Given the description of an element on the screen output the (x, y) to click on. 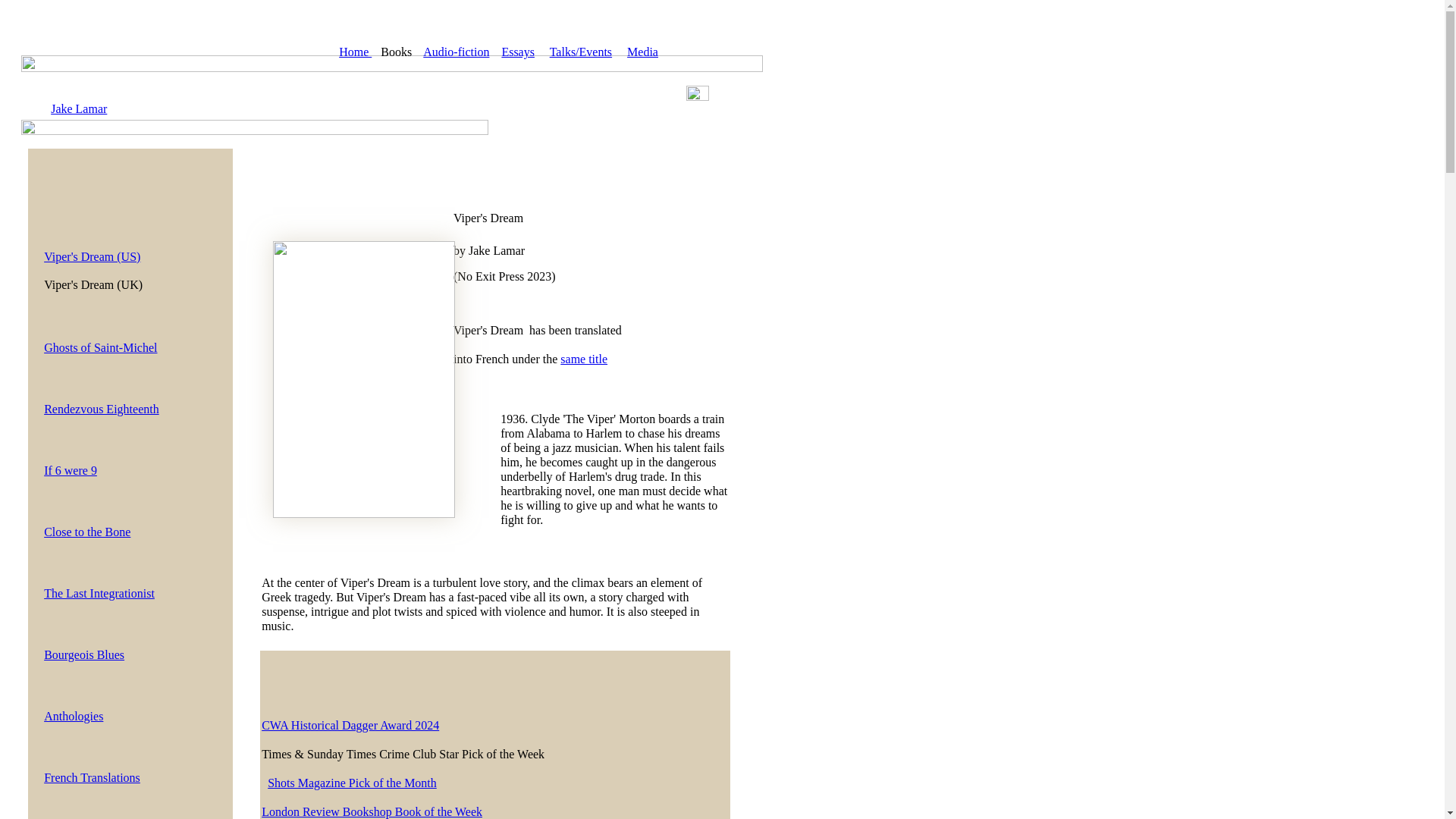
Close to the Bone (87, 531)
London Review Bookshop Book of the Week (371, 811)
Bourgeois Blues (83, 654)
CWA Historical Dagger Award 2024 (350, 725)
Audio-fiction (456, 51)
If 6 were 9 (70, 470)
Media (642, 51)
The Last Integrationist (98, 593)
French Translations (91, 777)
Jake Lamar (78, 108)
Rendezvous Eighteenth (100, 408)
Ghosts of Saint-Michel (100, 347)
Shots Magazine Pick of the Month (351, 782)
Anthologies (73, 716)
same title (583, 358)
